Given the description of an element on the screen output the (x, y) to click on. 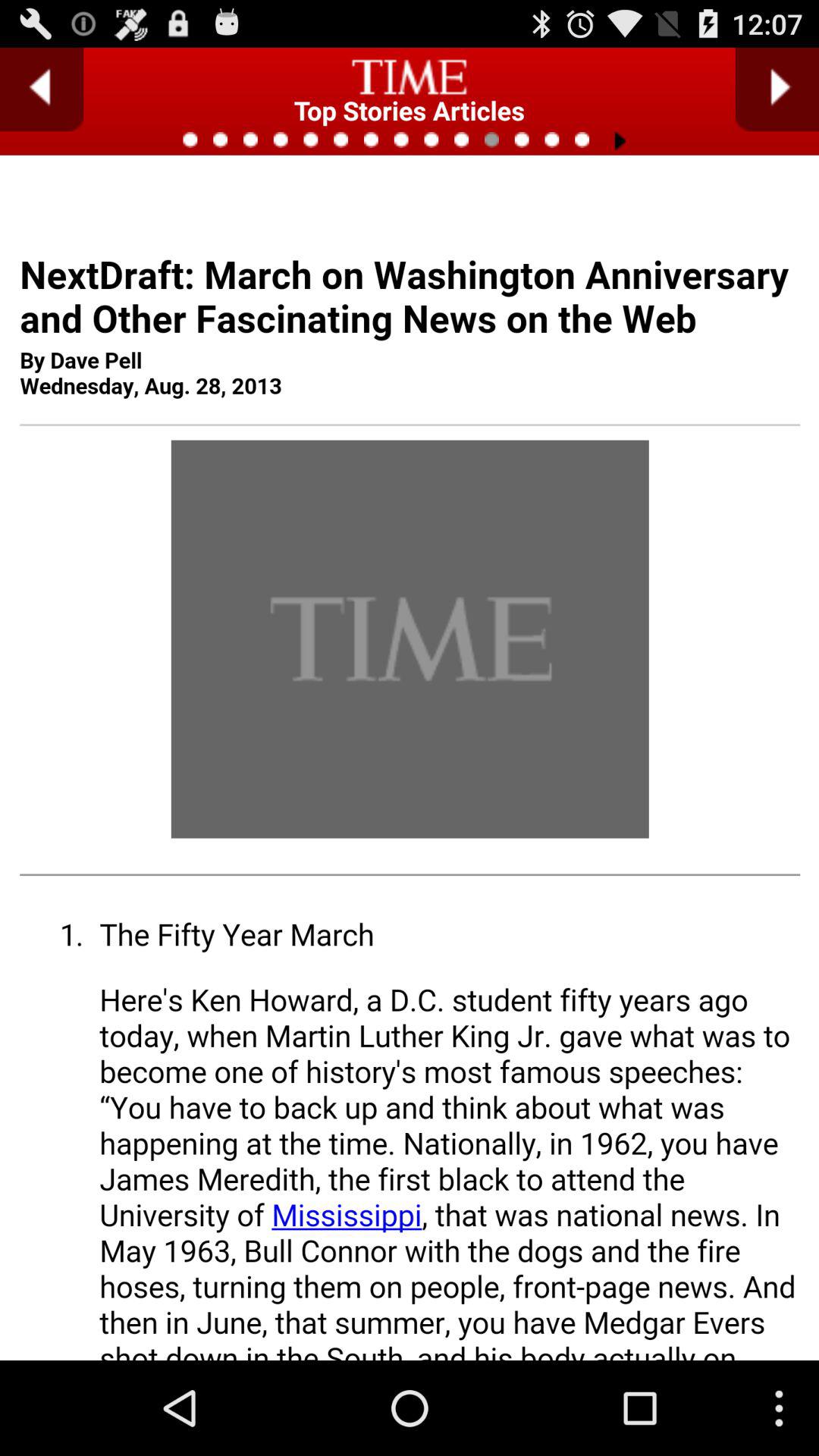
launch the app next to the top stories articles item (41, 89)
